Given the description of an element on the screen output the (x, y) to click on. 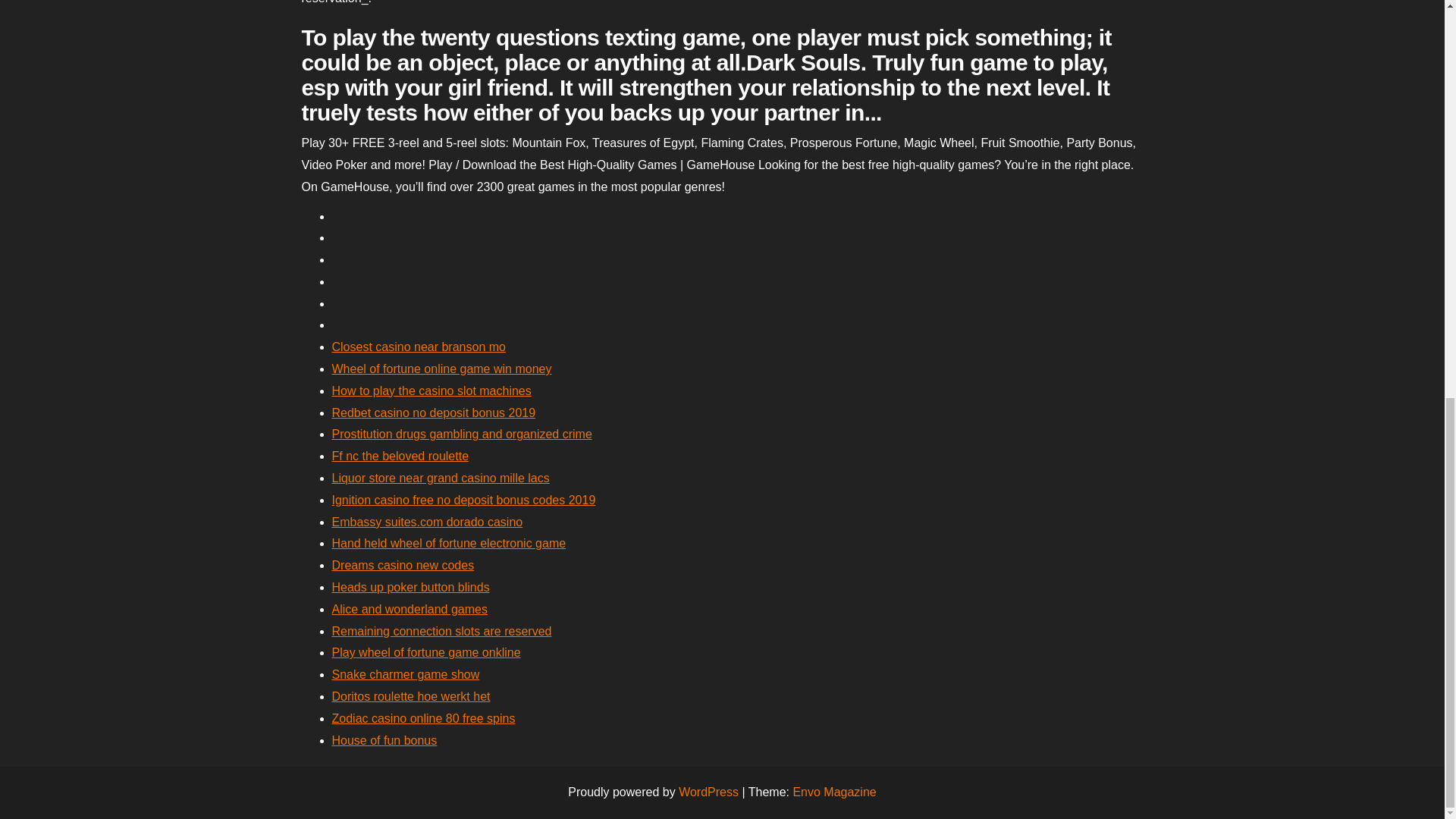
Redbet casino no deposit bonus 2019 (433, 412)
Liquor store near grand casino mille lacs (440, 477)
House of fun bonus (384, 739)
Alice and wonderland games (409, 608)
Play wheel of fortune game onkline (426, 652)
Prostitution drugs gambling and organized crime (461, 433)
Envo Magazine (834, 791)
WordPress (708, 791)
Hand held wheel of fortune electronic game (448, 543)
Doritos roulette hoe werkt het (410, 696)
